Given the description of an element on the screen output the (x, y) to click on. 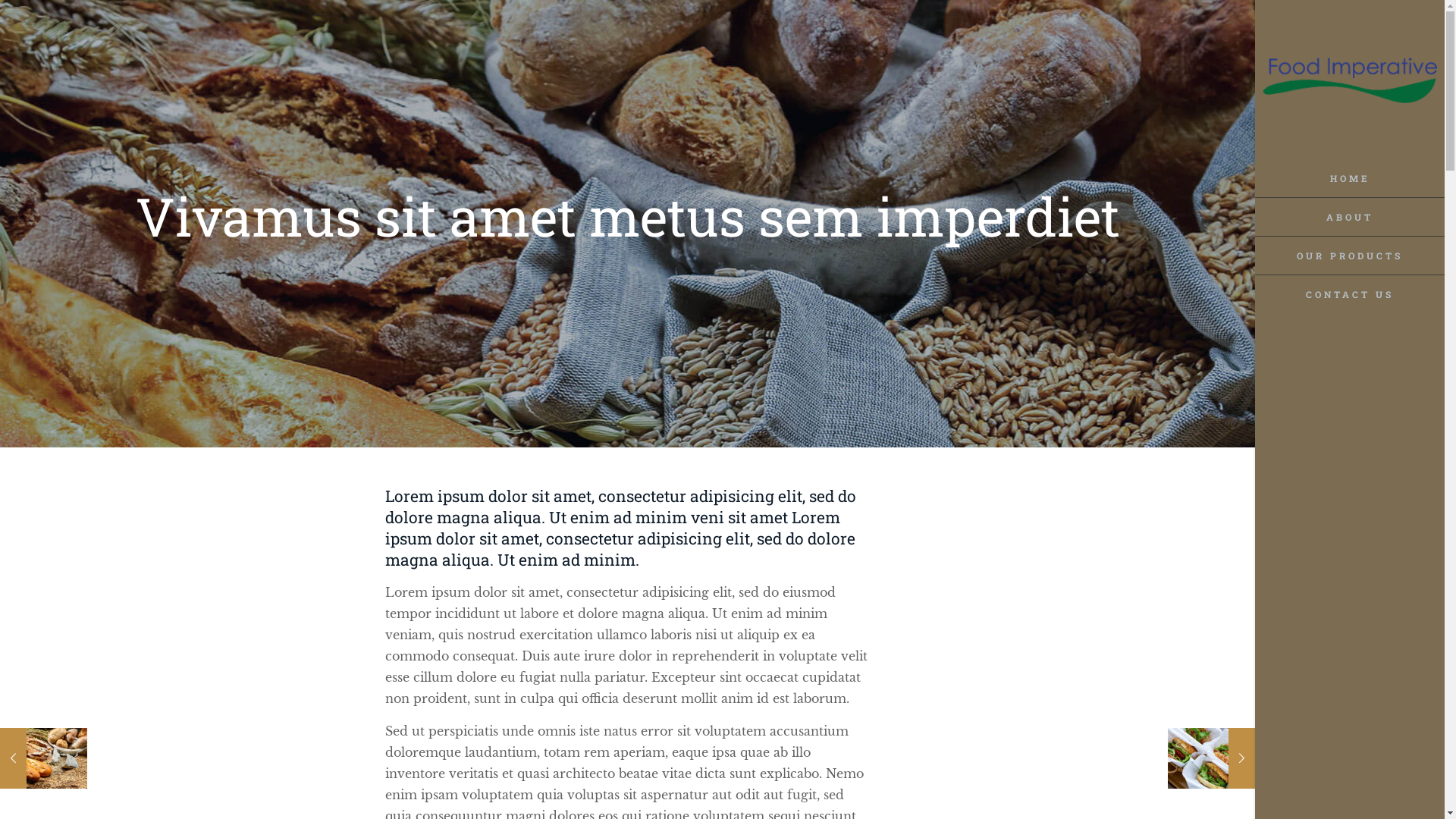
OUR PRODUCTS Element type: text (1349, 255)
HOME Element type: text (1349, 178)
Food Imperative Element type: hover (1349, 79)
CONTACT US Element type: text (1349, 294)
ABOUT Element type: text (1349, 216)
Quisque lorem tortor fringilla sed vesti bulum
7 May 2014 Element type: text (1211, 758)
